Given the description of an element on the screen output the (x, y) to click on. 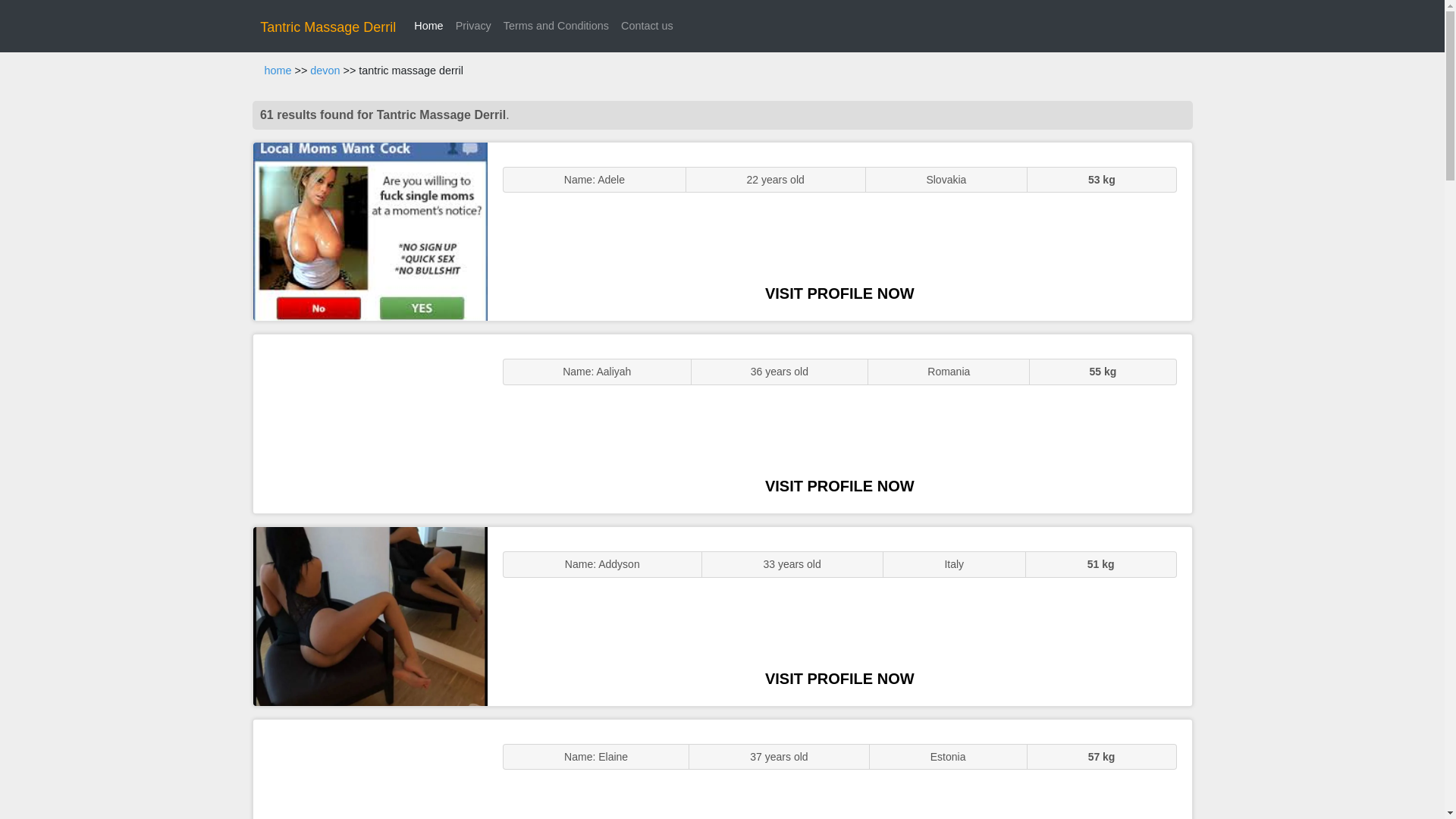
Sluts (370, 769)
VISIT PROFILE NOW (839, 293)
Tantric Massage Derril (328, 27)
devon (324, 70)
 ENGLISH STUNNER (370, 231)
Contact us (646, 25)
Privacy (473, 25)
GFE (370, 423)
Terms and Conditions (555, 25)
Sexy (370, 616)
